Given the description of an element on the screen output the (x, y) to click on. 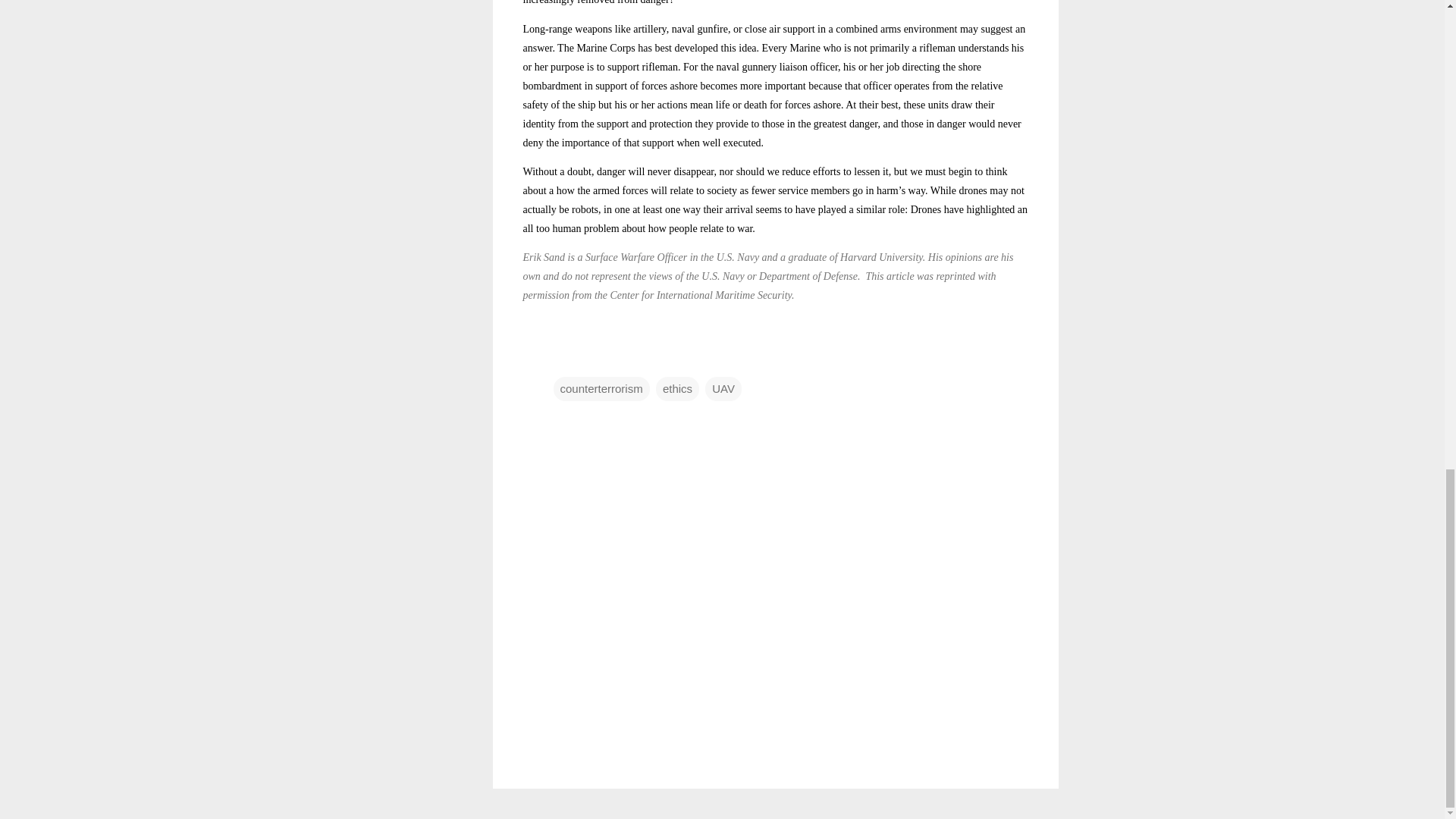
counterterrorism (601, 388)
UAV (722, 388)
ethics (677, 388)
Email Post (562, 358)
